Given the description of an element on the screen output the (x, y) to click on. 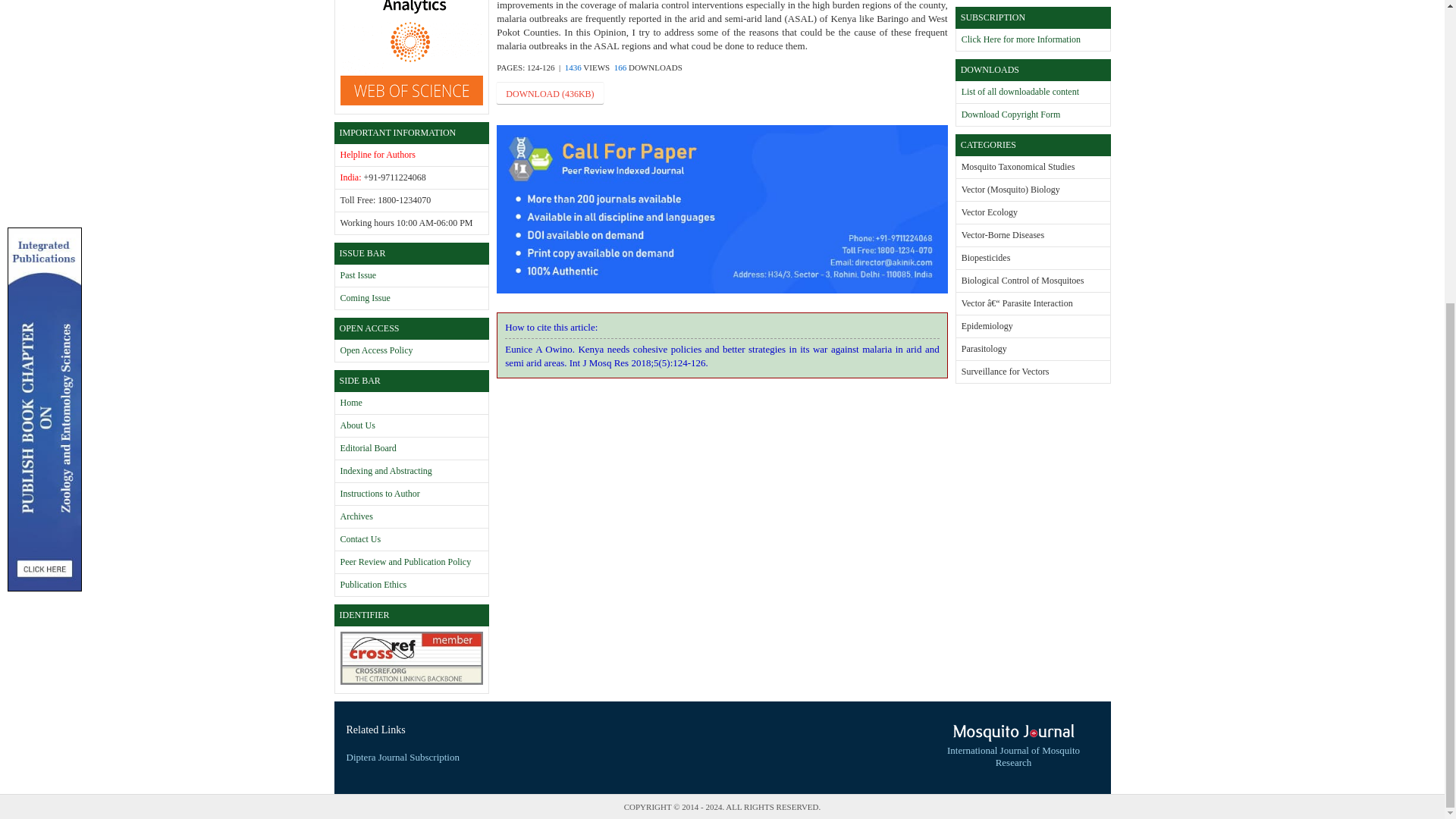
Editorial Board (367, 448)
Home (350, 402)
Contact Us (359, 538)
Publication Ethics (372, 584)
Coming Issue (364, 297)
Open Access Policy (375, 349)
Archives (355, 516)
Instructions to Author (379, 493)
Past Issue (357, 275)
Peer Review and Publication Policy (404, 561)
Indexing and Abstracting (384, 470)
About Us (356, 425)
